Given the description of an element on the screen output the (x, y) to click on. 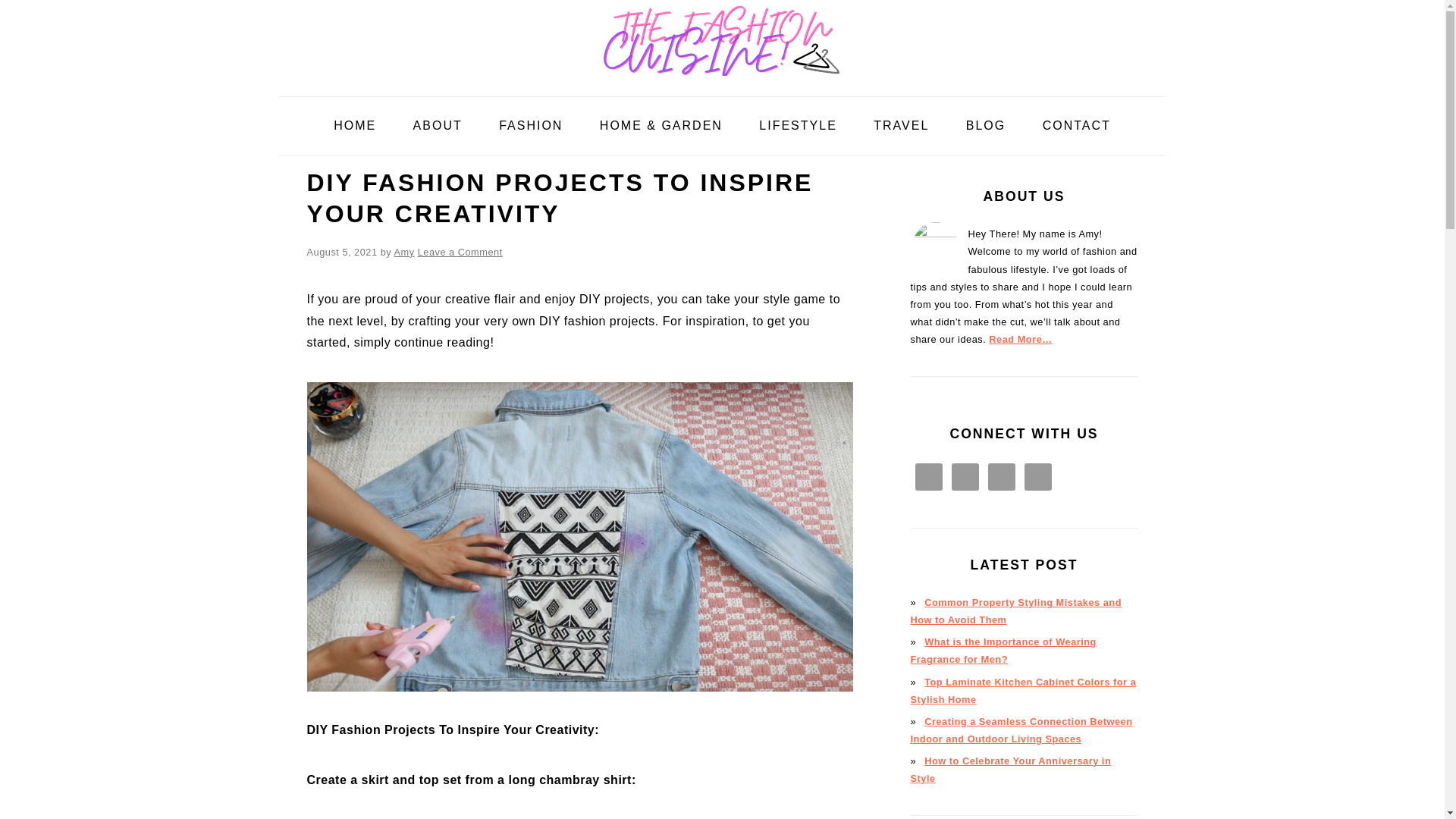
What is the Importance of Wearing Fragrance for Men? (1003, 650)
The Fashion Cuisine (721, 38)
TRAVEL (900, 125)
Leave a Comment (459, 251)
The Fashion Cuisine (721, 83)
ABOUT (438, 125)
BLOG (986, 125)
HOME (354, 125)
